Given the description of an element on the screen output the (x, y) to click on. 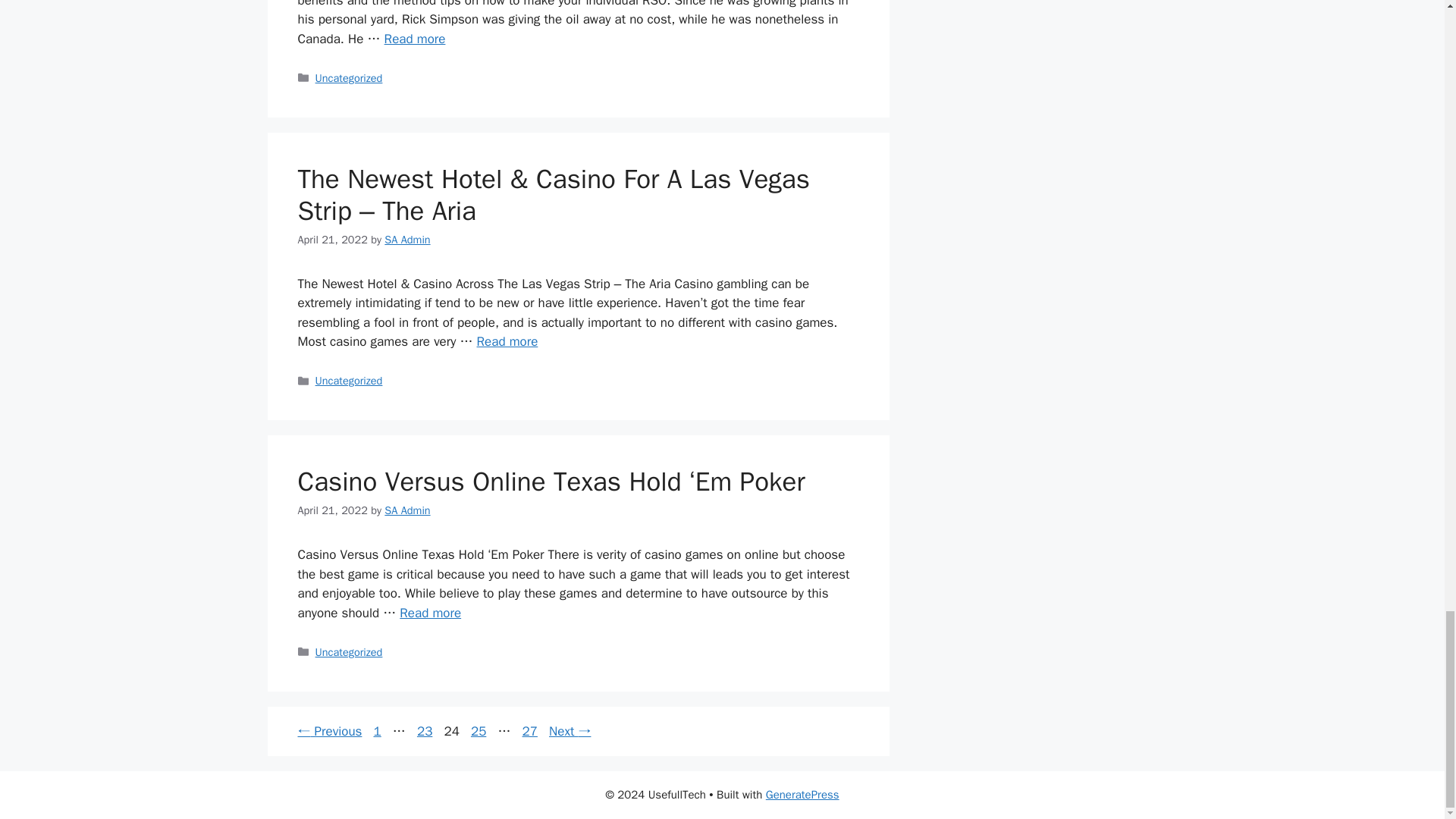
Read more (507, 341)
View all posts by SA Admin (406, 239)
Dr Greenthumb Seeds, Canada (414, 38)
View all posts by SA Admin (406, 509)
Uncategorized (348, 78)
SA Admin (406, 239)
Read more (414, 38)
